Given the description of an element on the screen output the (x, y) to click on. 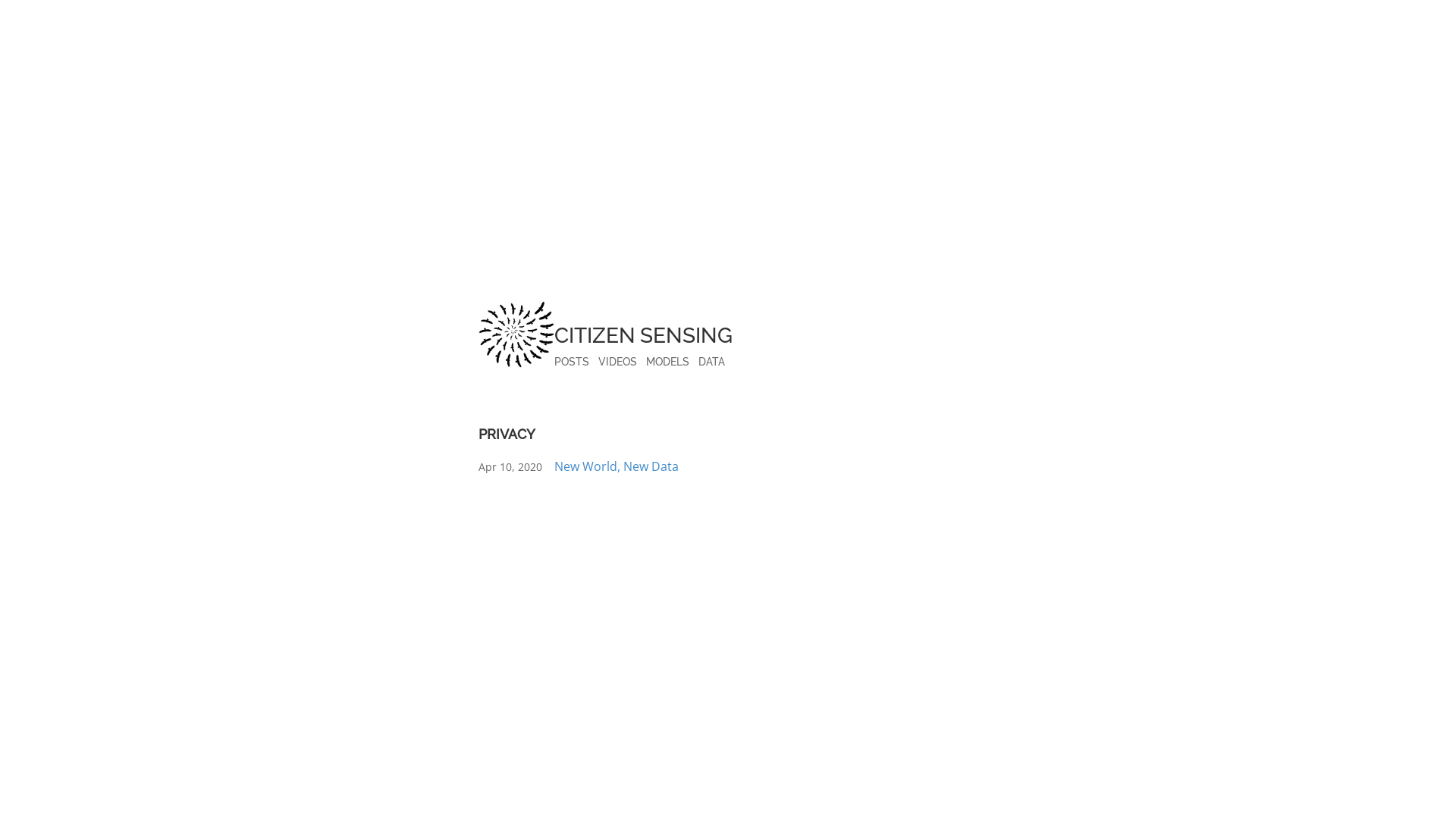
MODELS Element type: text (667, 361)
DATA Element type: text (711, 361)
VIDEOS Element type: text (617, 361)
New World, New Data Element type: text (616, 466)
CITIZEN SENSING Element type: text (643, 328)
POSTS Element type: text (571, 361)
